Given the description of an element on the screen output the (x, y) to click on. 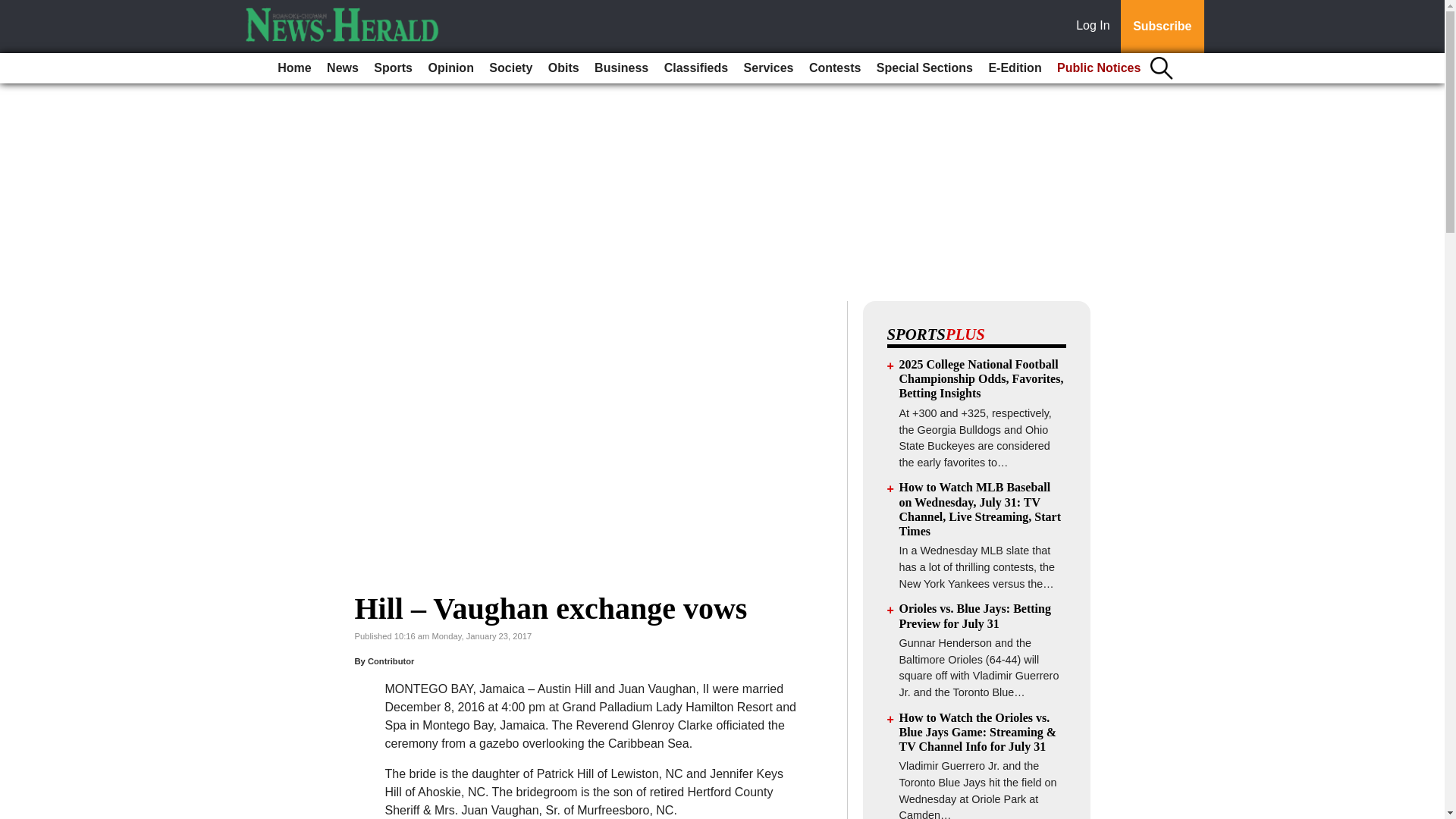
Contests (834, 68)
Services (768, 68)
Business (620, 68)
Log In (1095, 26)
Subscribe (1162, 26)
Go (13, 9)
Classifieds (695, 68)
News (342, 68)
E-Edition (1013, 68)
Opinion (450, 68)
Contributor (391, 660)
Special Sections (924, 68)
Home (293, 68)
Public Notices (1099, 68)
Obits (563, 68)
